Given the description of an element on the screen output the (x, y) to click on. 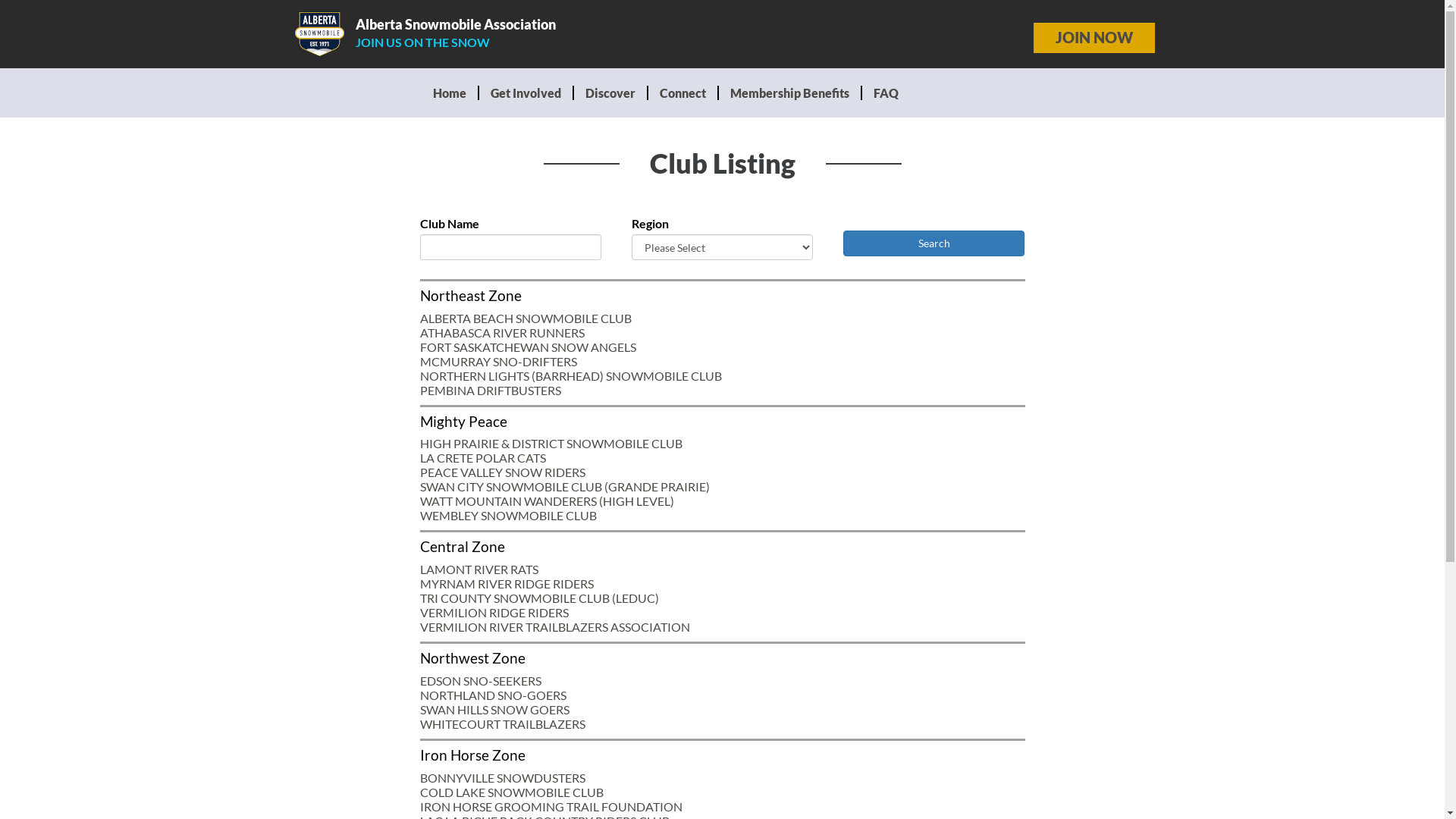
IRON HORSE GROOMING TRAIL FOUNDATION Element type: text (551, 806)
MYRNAM RIVER RIDGE RIDERS Element type: text (506, 583)
BONNYVILLE SNOWDUSTERS Element type: text (502, 777)
VERMILION RIVER TRAILBLAZERS ASSOCIATION Element type: text (555, 626)
JOIN NOW Element type: text (1094, 37)
WEMBLEY SNOWMOBILE CLUB Element type: text (508, 515)
Get Involved Element type: text (525, 92)
EDSON SNO-SEEKERS Element type: text (480, 680)
Membership Benefits Element type: text (789, 92)
PEACE VALLEY SNOW RIDERS Element type: text (502, 471)
HIGH PRAIRIE & DISTRICT SNOWMOBILE CLUB Element type: text (551, 443)
LA CRETE POLAR CATS Element type: text (483, 457)
Home Element type: text (449, 92)
NORTHERN LIGHTS (BARRHEAD) SNOWMOBILE CLUB Element type: text (570, 375)
ALBERTA BEACH SNOWMOBILE CLUB Element type: text (525, 317)
WATT MOUNTAIN WANDERERS (HIGH LEVEL) Element type: text (547, 500)
LAMONT RIVER RATS Element type: text (479, 568)
PEMBINA DRIFTBUSTERS Element type: text (490, 389)
SWAN CITY SNOWMOBILE CLUB (GRANDE PRAIRIE) Element type: text (564, 486)
VERMILION RIDGE RIDERS Element type: text (494, 612)
MCMURRAY SNO-DRIFTERS Element type: text (498, 361)
TRI COUNTY SNOWMOBILE CLUB (LEDUC) Element type: text (539, 597)
FORT SASKATCHEWAN SNOW ANGELS Element type: text (528, 346)
Discover Element type: text (609, 92)
ATHABASCA RIVER RUNNERS Element type: text (502, 332)
COLD LAKE SNOWMOBILE CLUB Element type: text (511, 791)
Search Element type: text (933, 243)
NORTHLAND SNO-GOERS Element type: text (493, 694)
FAQ Element type: text (885, 92)
SWAN HILLS SNOW GOERS Element type: text (494, 709)
WHITECOURT TRAILBLAZERS Element type: text (502, 723)
Connect Element type: text (681, 92)
